Given the description of an element on the screen output the (x, y) to click on. 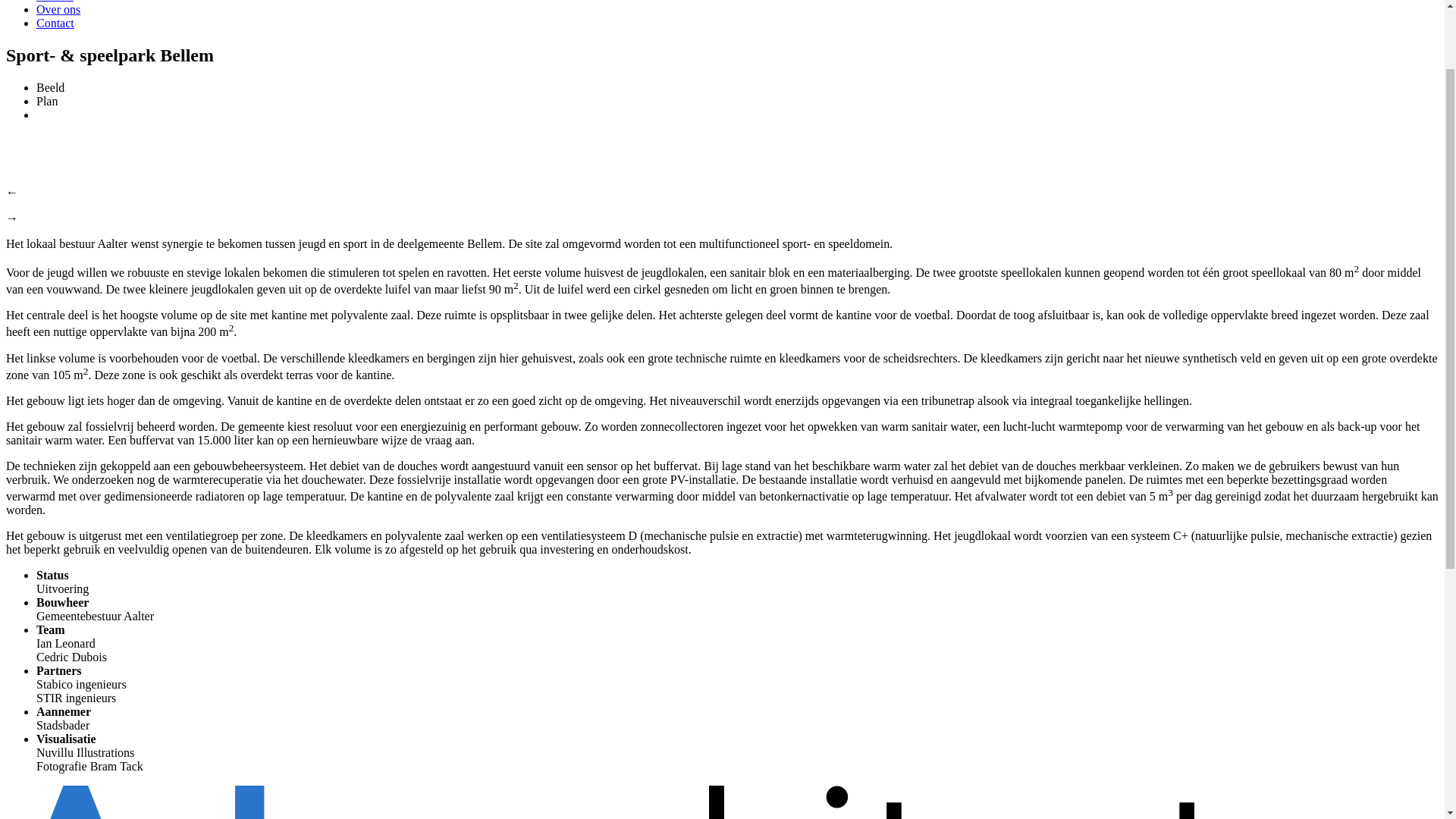
Publiek Element type: text (54, 37)
Nieuws Element type: text (54, 90)
Over ons Element type: text (58, 104)
Wonen Element type: text (53, 51)
Contact Element type: text (55, 118)
Utiliteit Element type: text (55, 65)
